Given the description of an element on the screen output the (x, y) to click on. 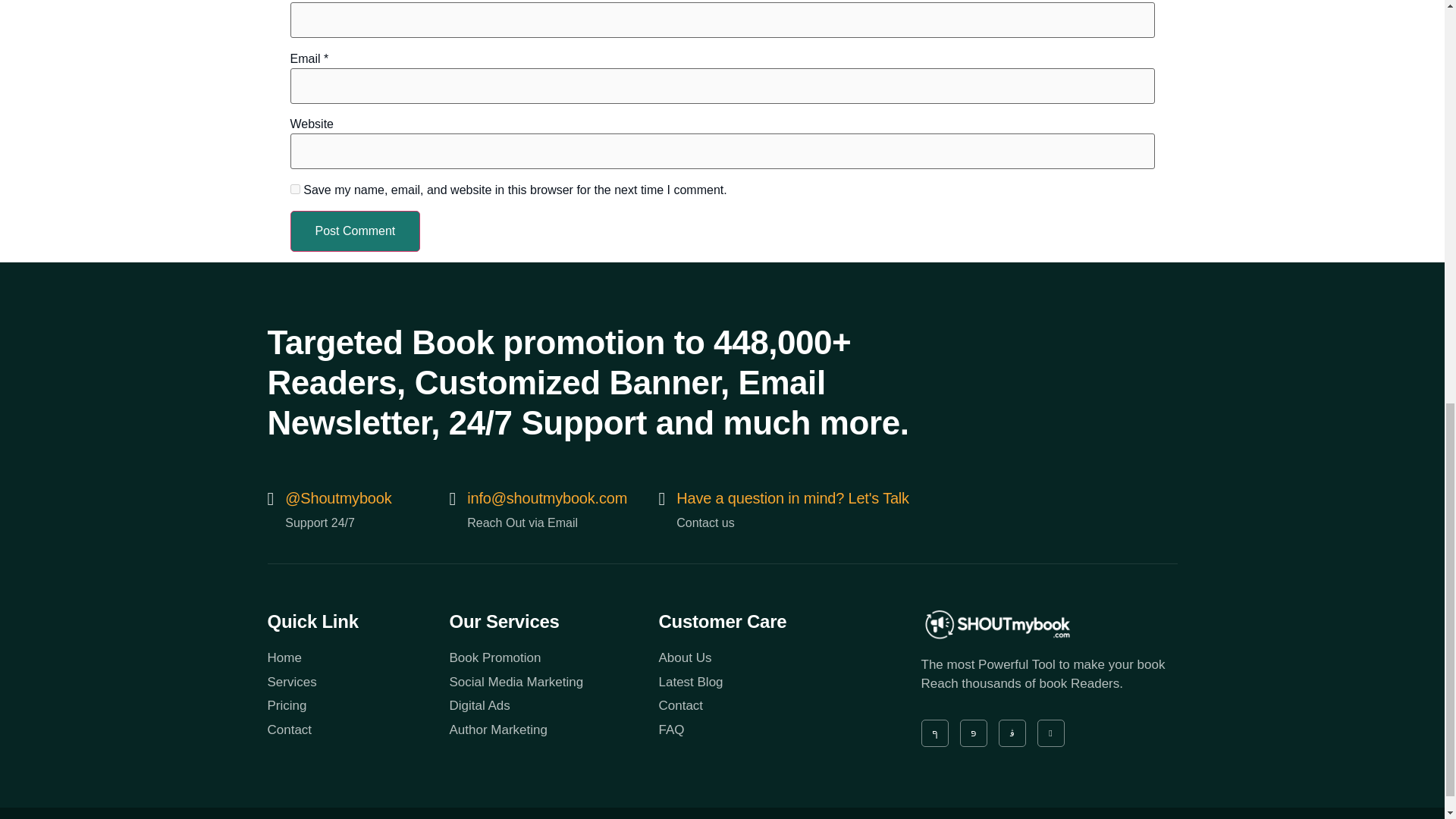
yes (294, 189)
Author Marketing (553, 730)
Home (357, 658)
FAQ (762, 730)
Privacy Policy (891, 816)
Contact (357, 730)
Pricing (357, 705)
Accessibility Center (1130, 816)
Latest Blog (762, 682)
Post Comment (354, 230)
Digital Ads (553, 705)
About Us (762, 658)
Book Promotion (553, 658)
Services (357, 682)
Social Media Marketing (553, 682)
